Given the description of an element on the screen output the (x, y) to click on. 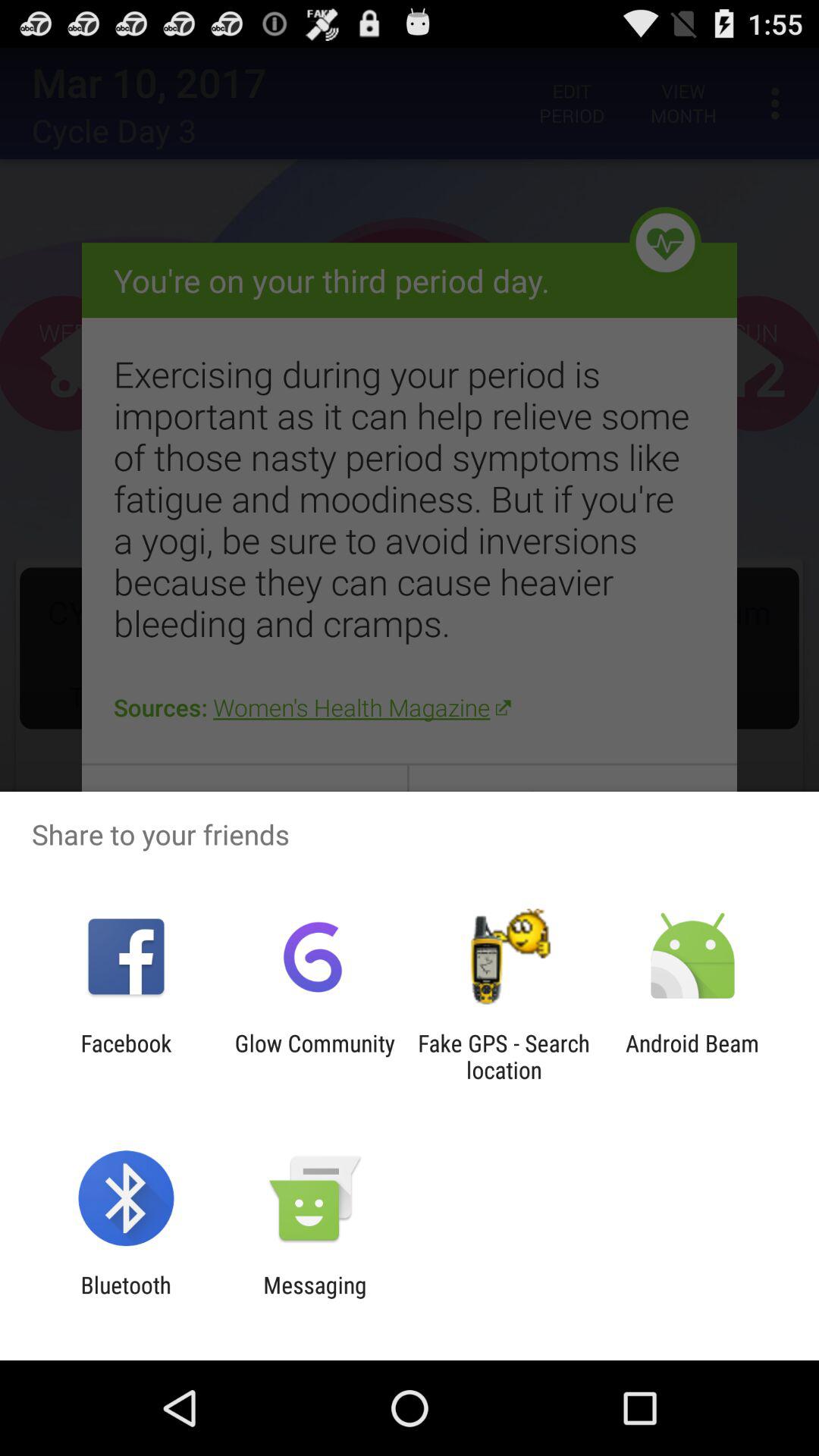
swipe to fake gps search (503, 1056)
